Given the description of an element on the screen output the (x, y) to click on. 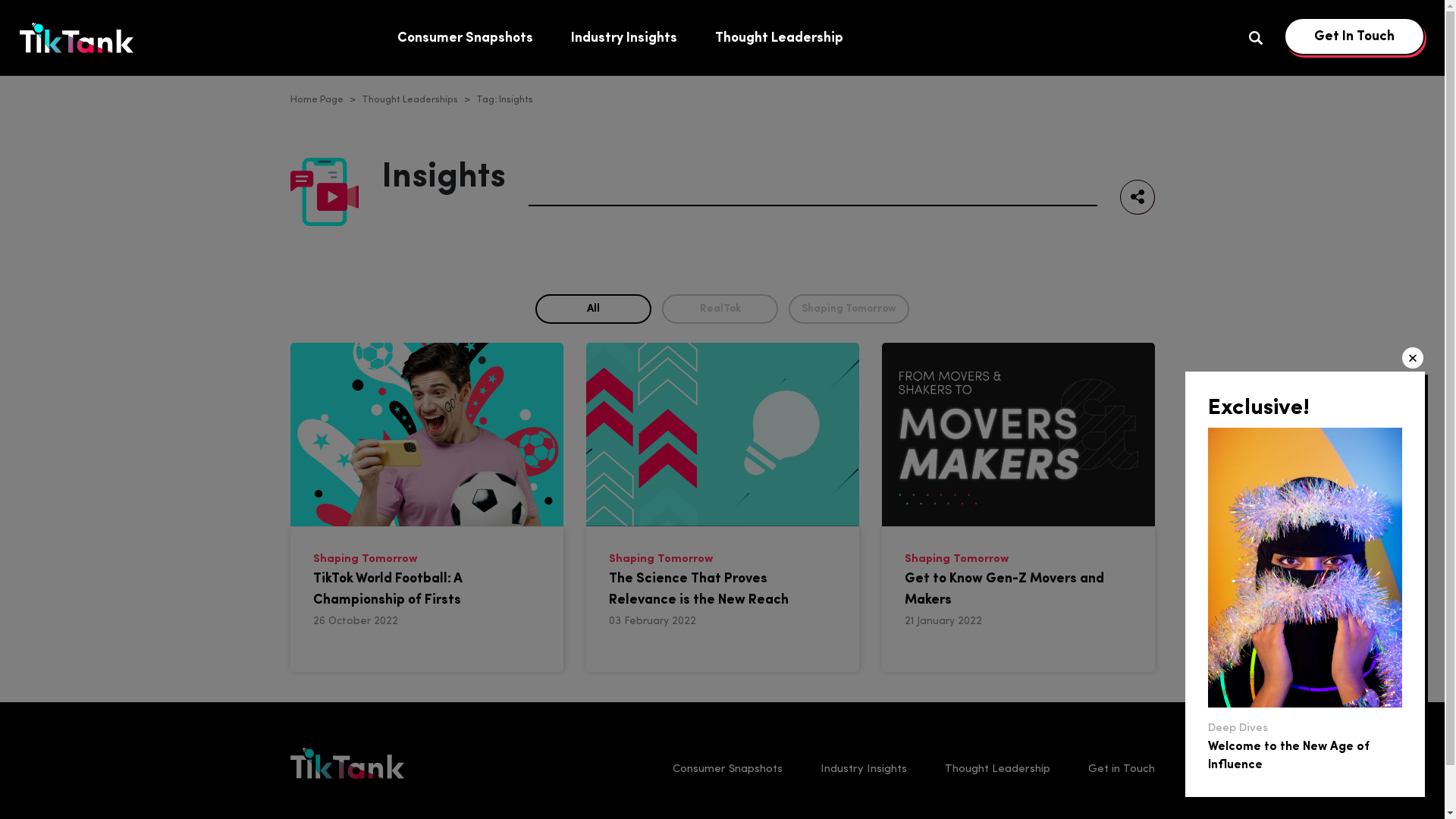
Get In Touch Element type: text (1353, 36)
Shaping Tomorrow Element type: text (848, 308)
Consumer Snapshots Element type: text (465, 37)
RealTok Element type: text (720, 308)
Thought Leaderships Element type: text (408, 99)
Get in Touch Element type: text (1120, 769)
Industry Insights Element type: text (624, 37)
Consumer Snapshots Element type: text (726, 769)
Thought Leadership Element type: text (779, 37)
Home Page Element type: text (315, 99)
Thought Leadership Element type: text (997, 769)
Industry Insights Element type: text (863, 769)
Exclusive!
Deep Dives
Welcome to the New Age of Influence Element type: text (1305, 584)
All Element type: text (593, 308)
